Given the description of an element on the screen output the (x, y) to click on. 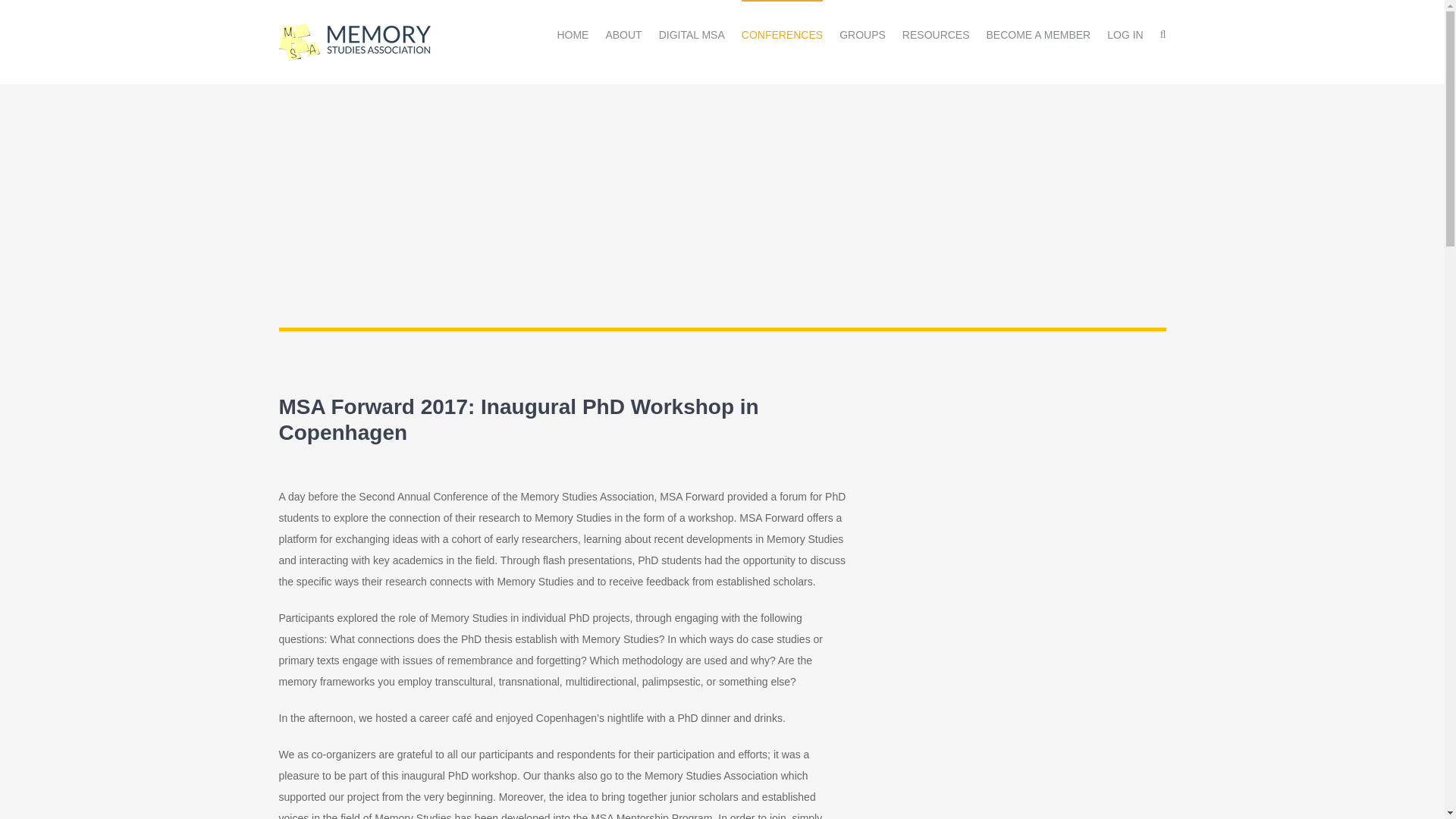
DIGITAL MSA (692, 33)
CONFERENCES (781, 33)
